Given the description of an element on the screen output the (x, y) to click on. 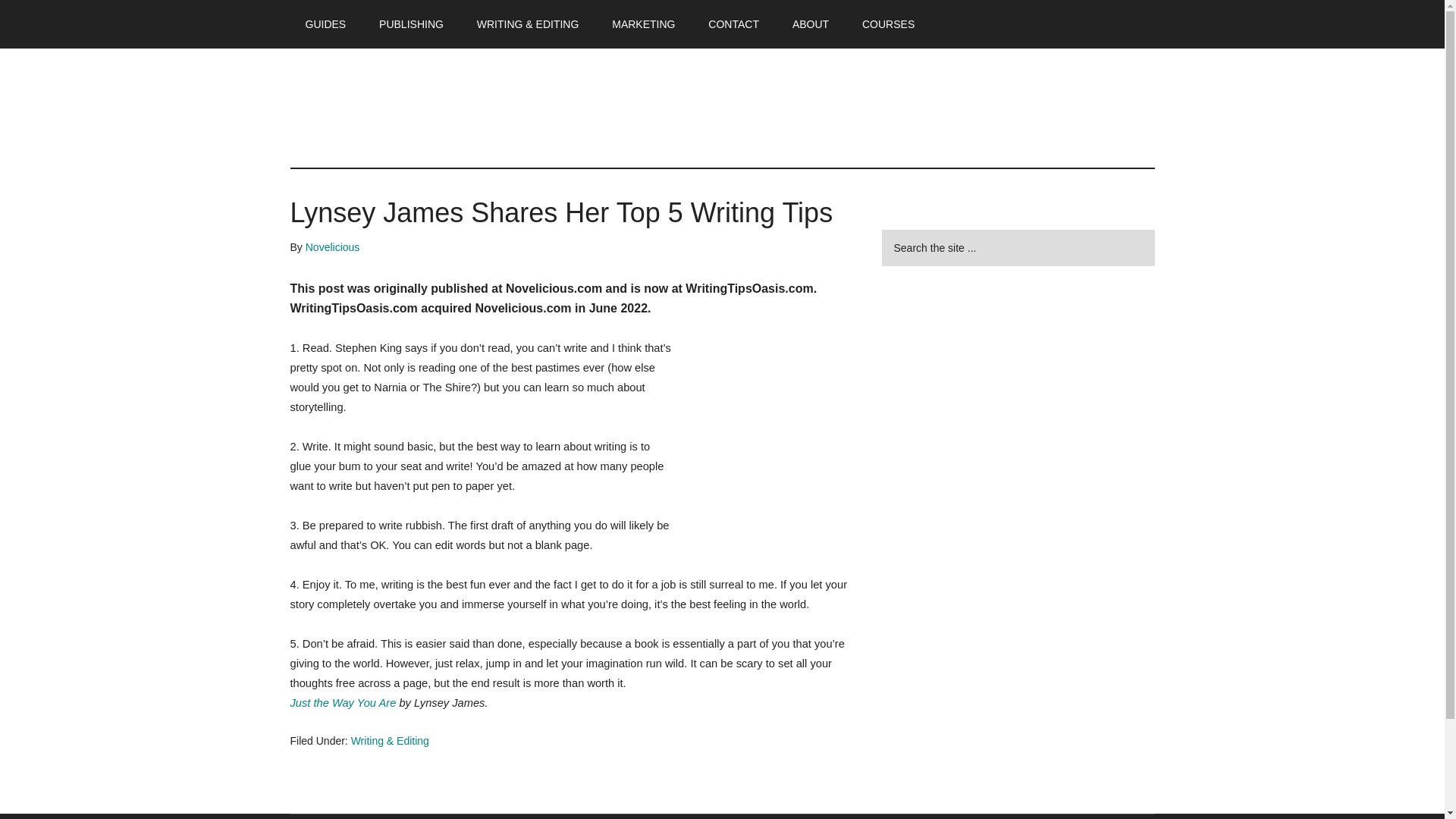
CONTACT (733, 24)
PUBLISHING (411, 24)
MARKETING (643, 24)
Just the Way You Are (342, 702)
COURSES (888, 24)
Lynsey James (768, 429)
